Given the description of an element on the screen output the (x, y) to click on. 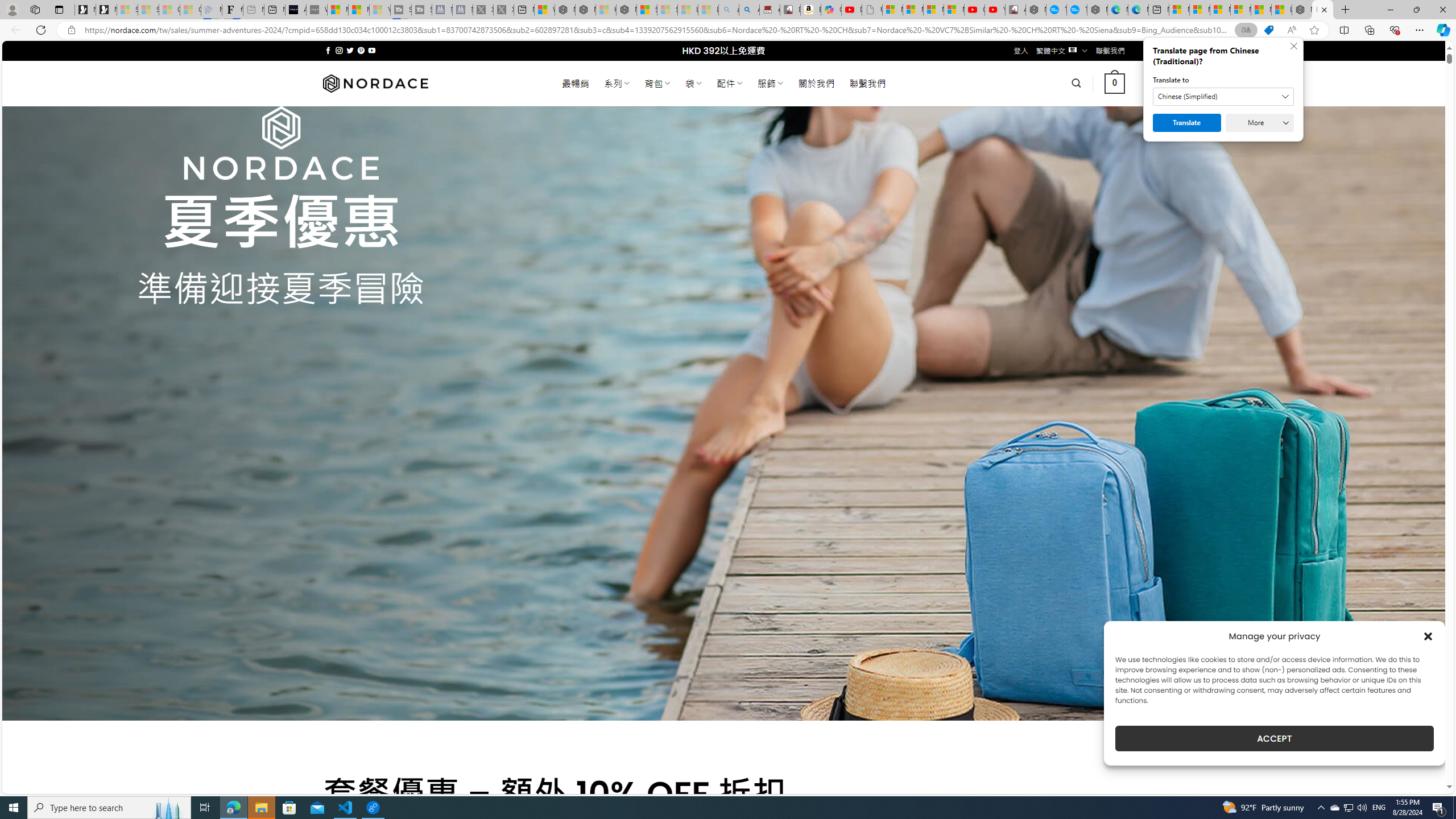
Follow on Twitter (349, 50)
Class: cmplz-close (1428, 636)
Nordace - Nordace Siena Is Not An Ordinary Backpack (626, 9)
Show translate options (1245, 29)
Follow on Facebook (327, 50)
